Given the description of an element on the screen output the (x, y) to click on. 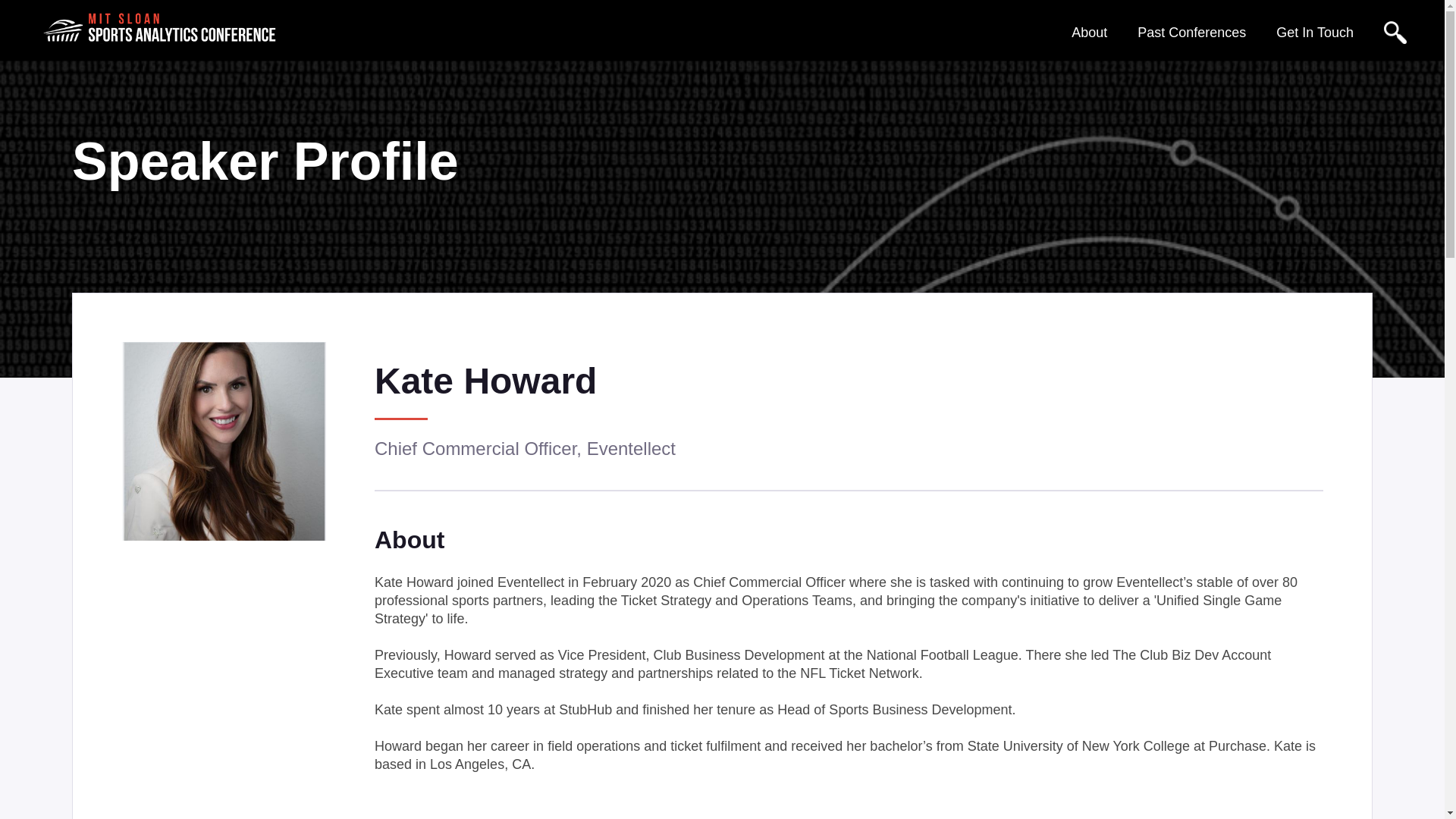
Past Conferences (1191, 32)
Search (958, 23)
